Given the description of an element on the screen output the (x, y) to click on. 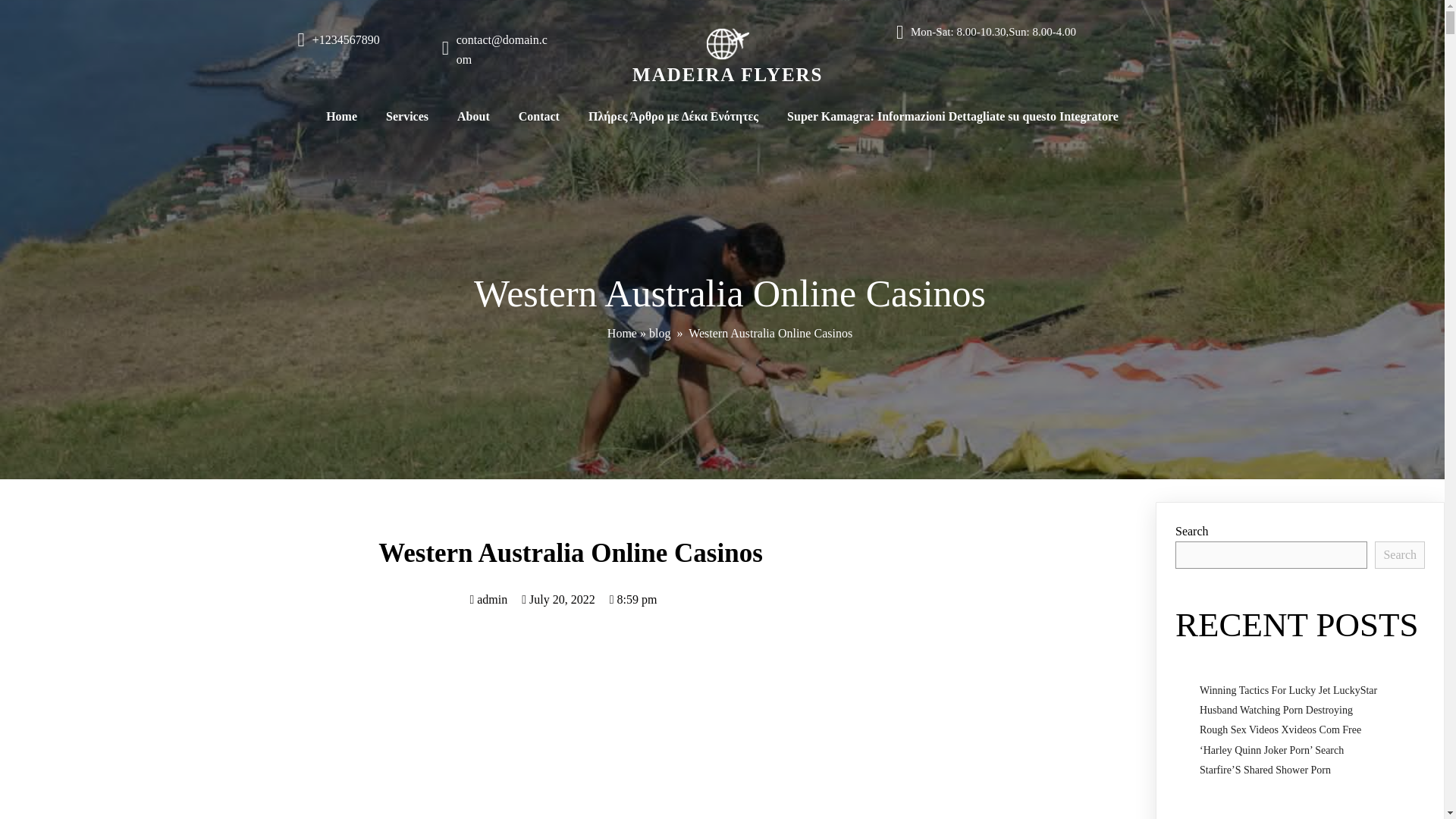
Home (341, 116)
admin (487, 599)
Rough Sex Videos Xvideos Com Free (1280, 729)
Home (622, 332)
Search (1399, 554)
July 20, 2022 (558, 599)
Services (406, 116)
logo-alt (727, 43)
Husband Watching Porn Destroying (1275, 709)
Contact (538, 116)
